Given the description of an element on the screen output the (x, y) to click on. 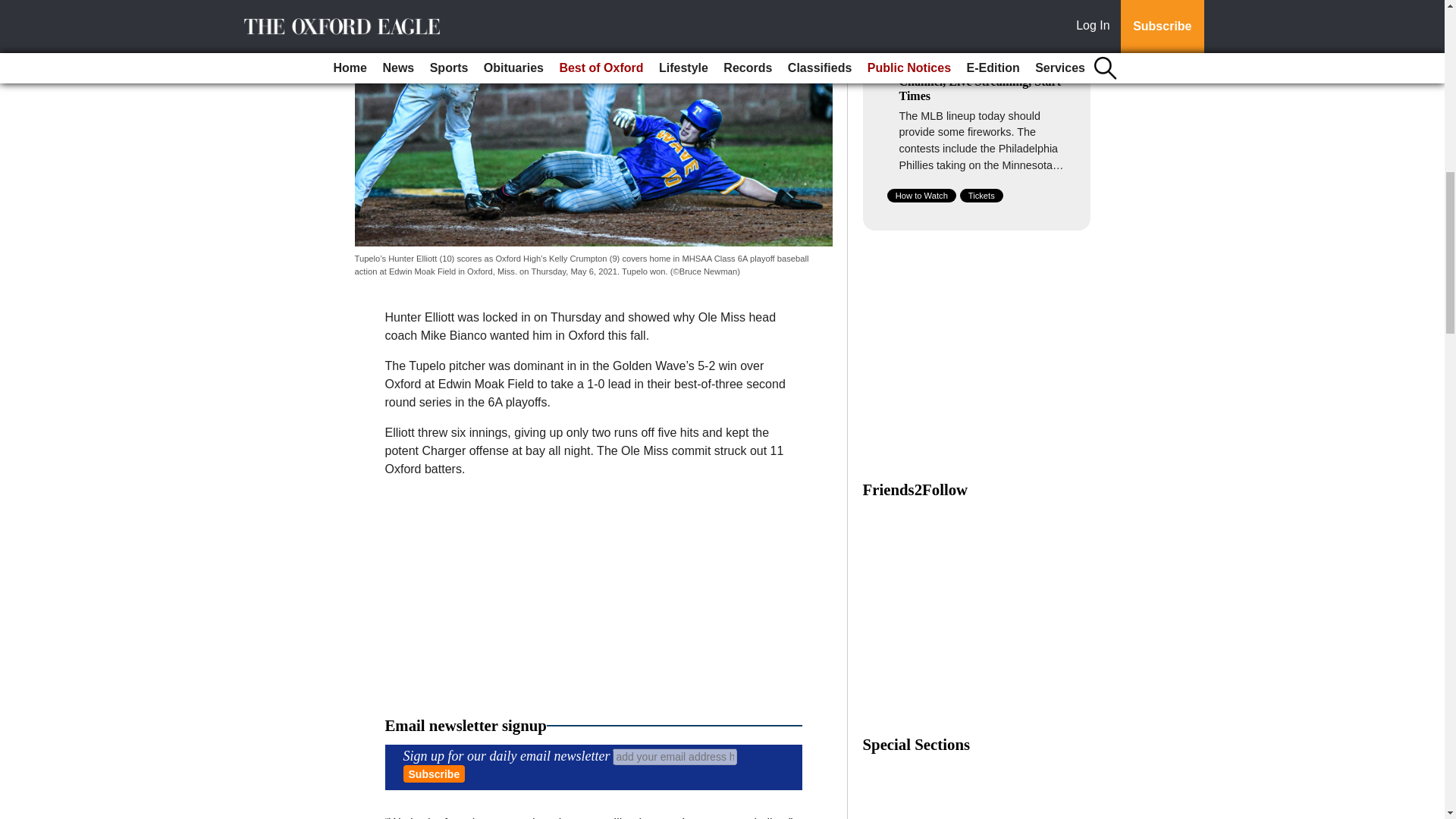
Subscribe (434, 773)
How to Watch (921, 195)
Subscribe (434, 773)
